Given the description of an element on the screen output the (x, y) to click on. 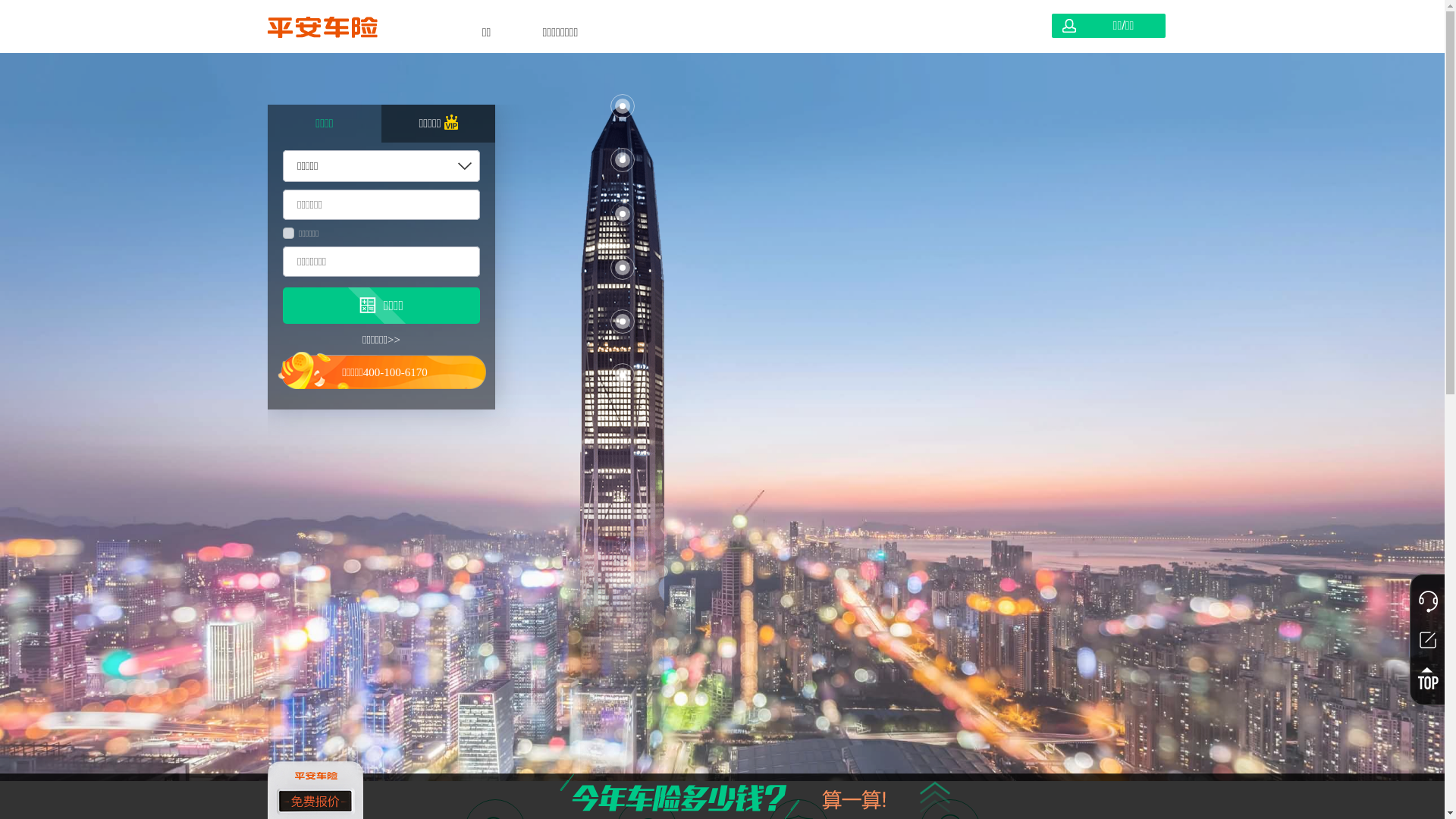
0 Element type: text (803, 200)
0 Element type: text (182, 94)
